Given the description of an element on the screen output the (x, y) to click on. 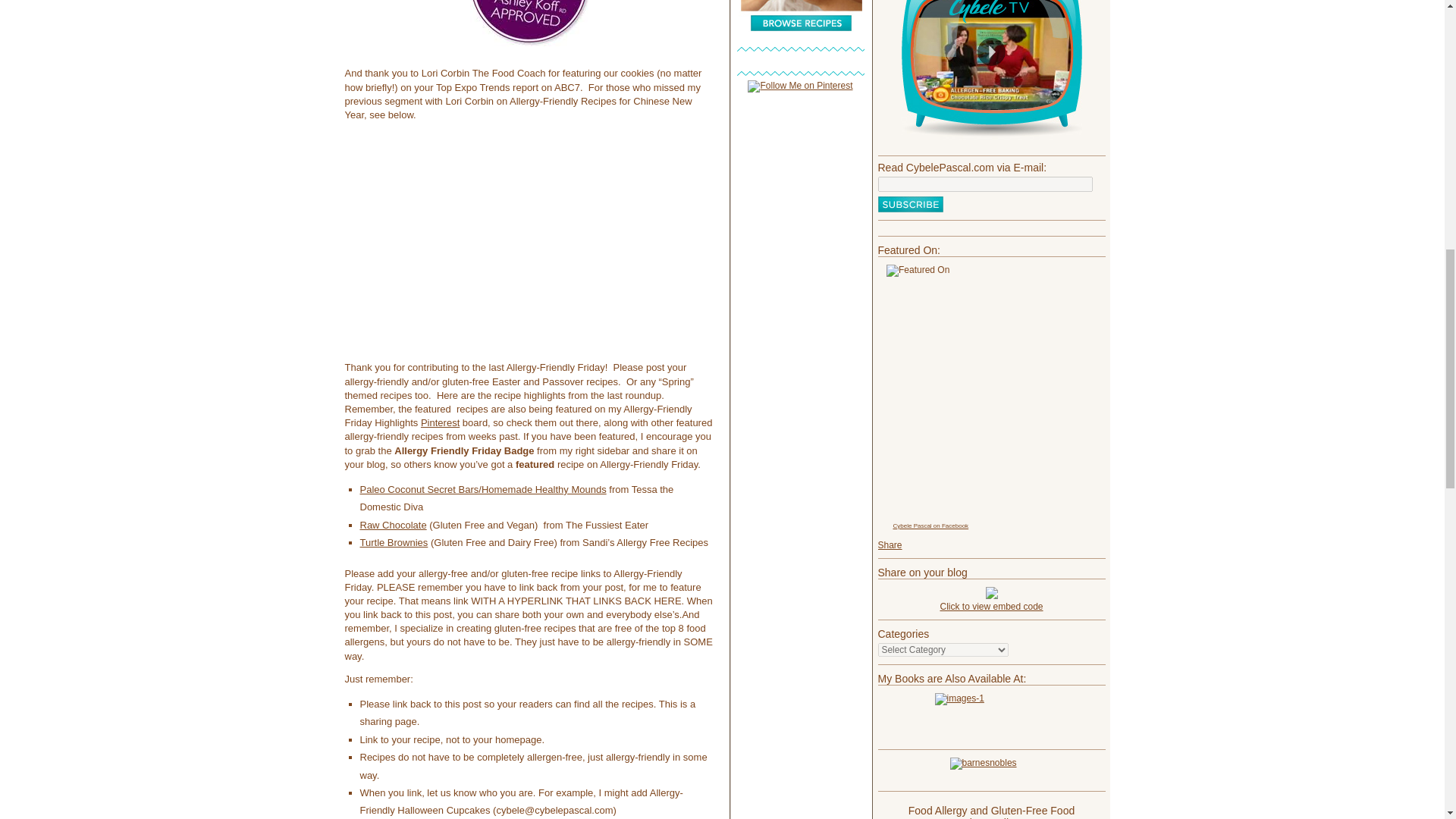
barnesnobles (991, 769)
Pinterest (440, 422)
Follow Me on Pinterest (799, 85)
images-1 (991, 717)
Turtle Brownies (393, 542)
recipe-ad (800, 15)
Subscribe (910, 204)
Raw Chocolate (392, 524)
Cybele TV (991, 70)
